Given the description of an element on the screen output the (x, y) to click on. 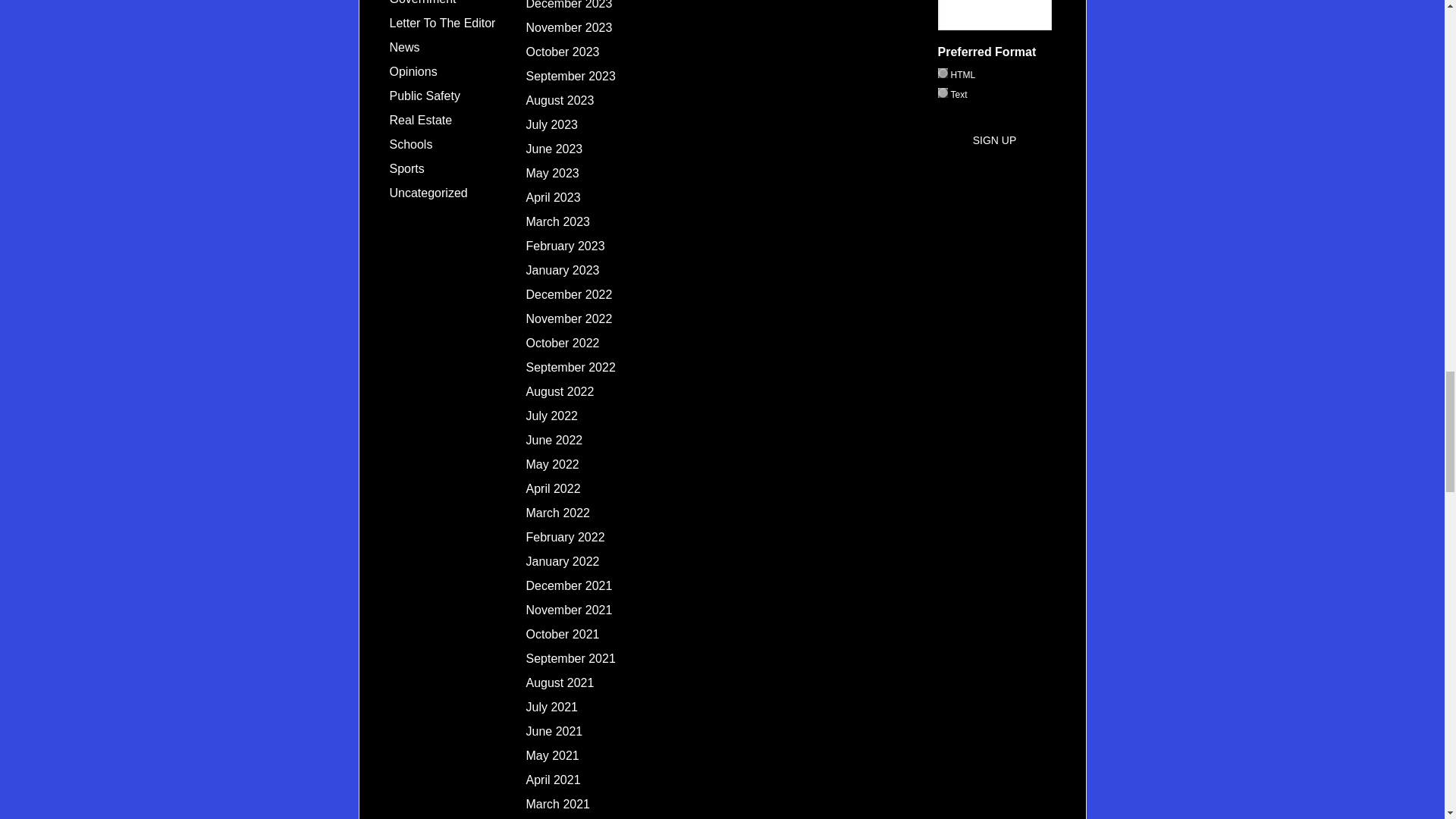
Sign Up (995, 140)
text (942, 92)
html (942, 72)
